Given the description of an element on the screen output the (x, y) to click on. 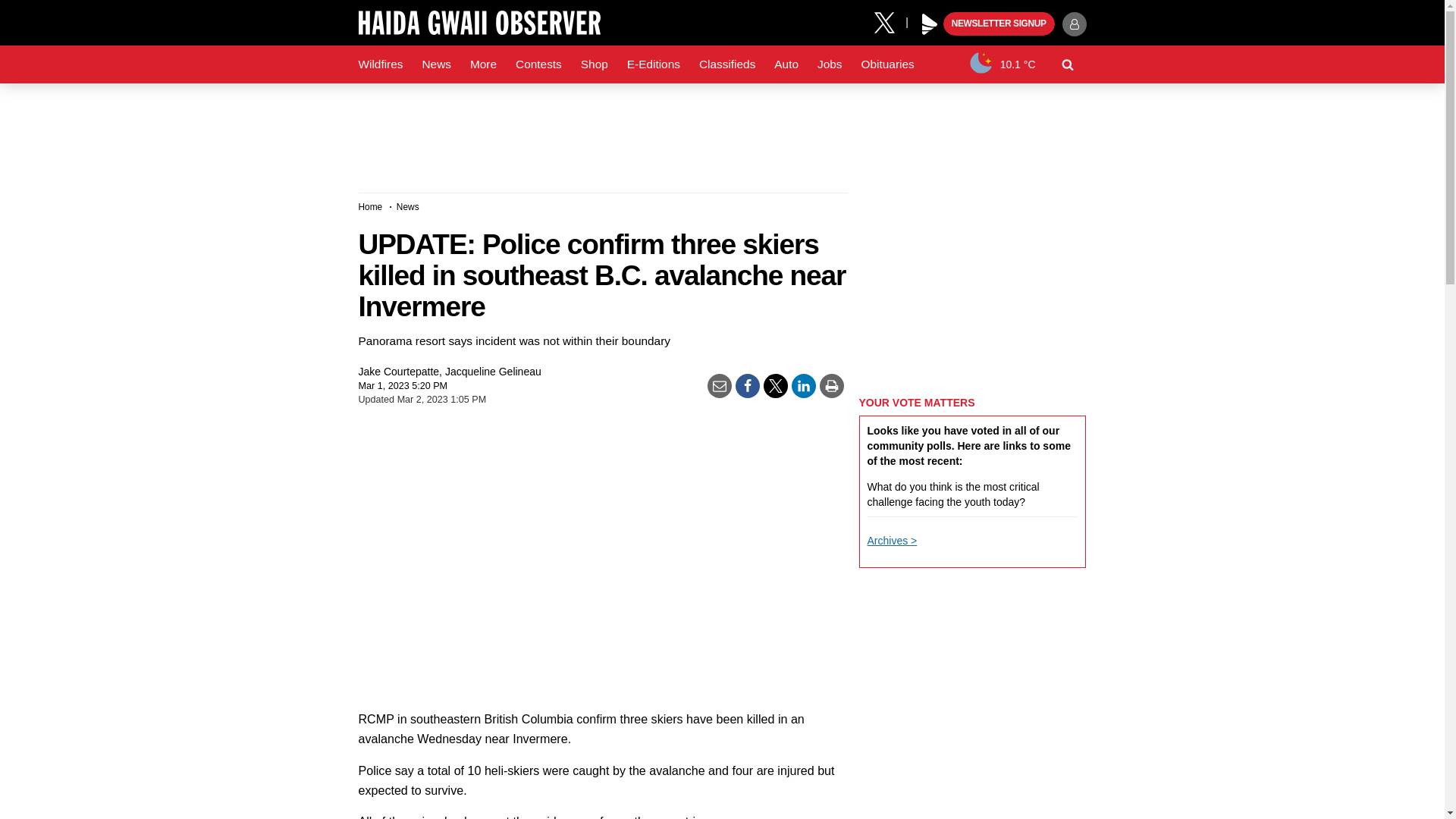
Play (929, 24)
Wildfires (380, 64)
X (889, 21)
News (435, 64)
NEWSLETTER SIGNUP (998, 24)
Black Press Media (929, 24)
